Given the description of an element on the screen output the (x, y) to click on. 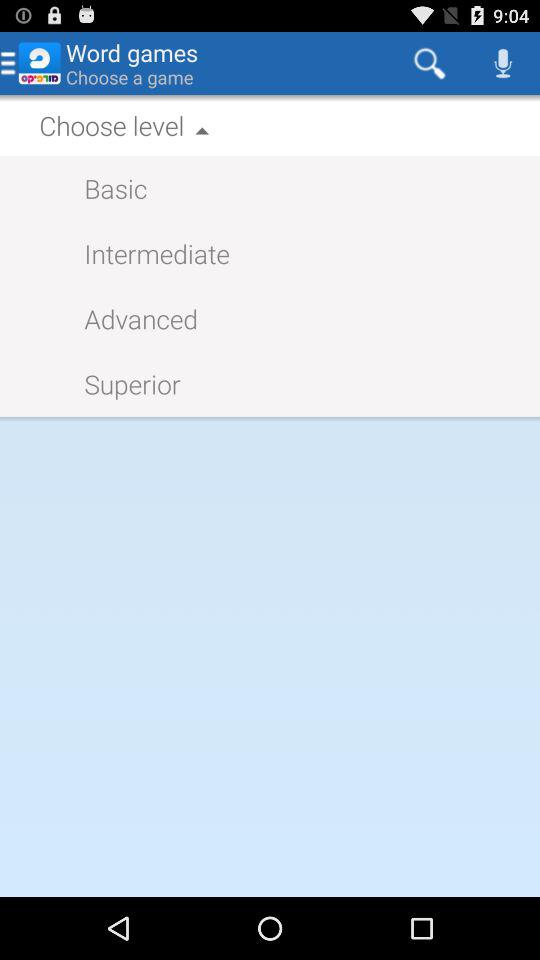
select item below basic item (146, 252)
